Given the description of an element on the screen output the (x, y) to click on. 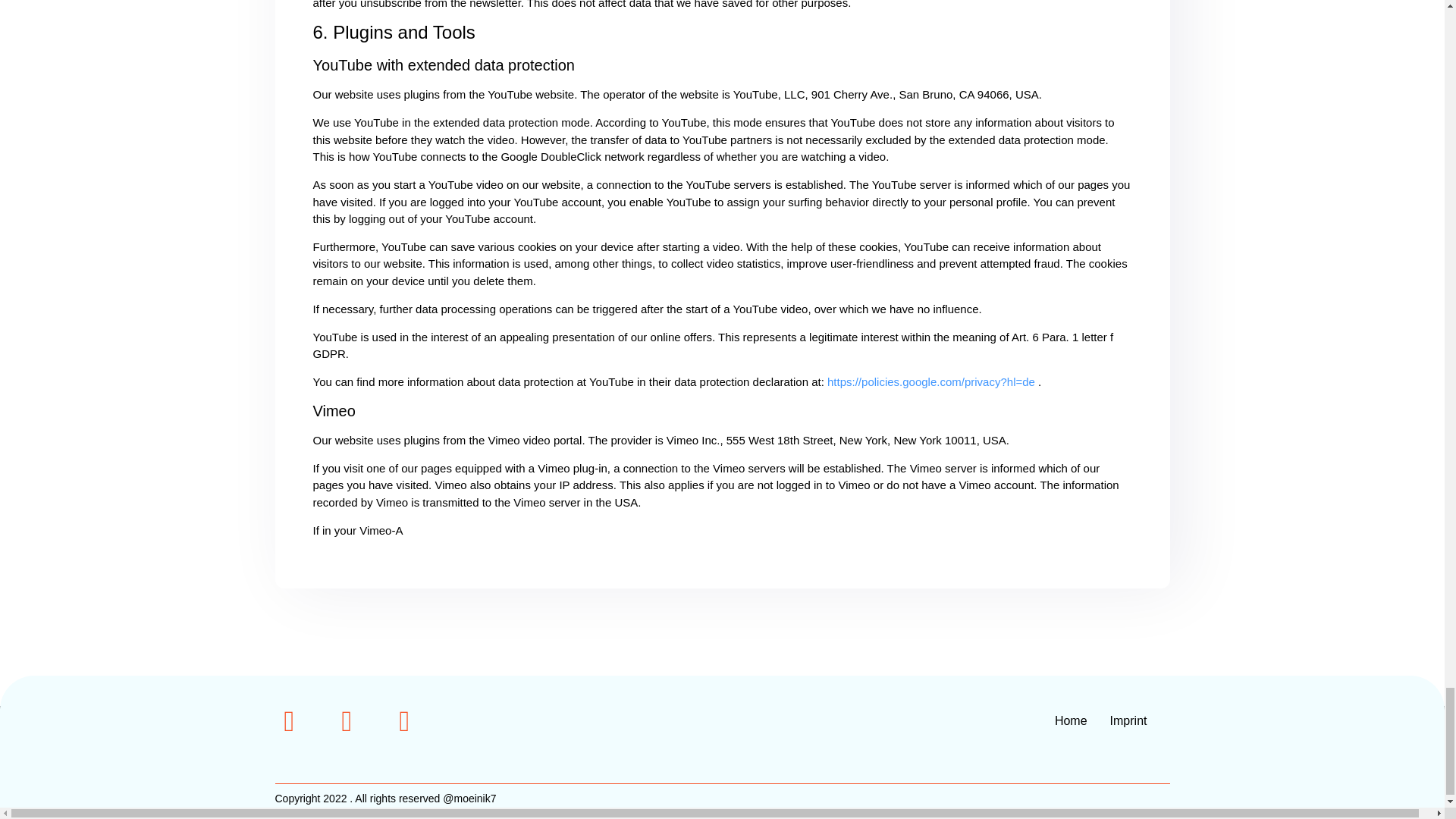
Home (1070, 721)
Imprint (1128, 721)
